Given the description of an element on the screen output the (x, y) to click on. 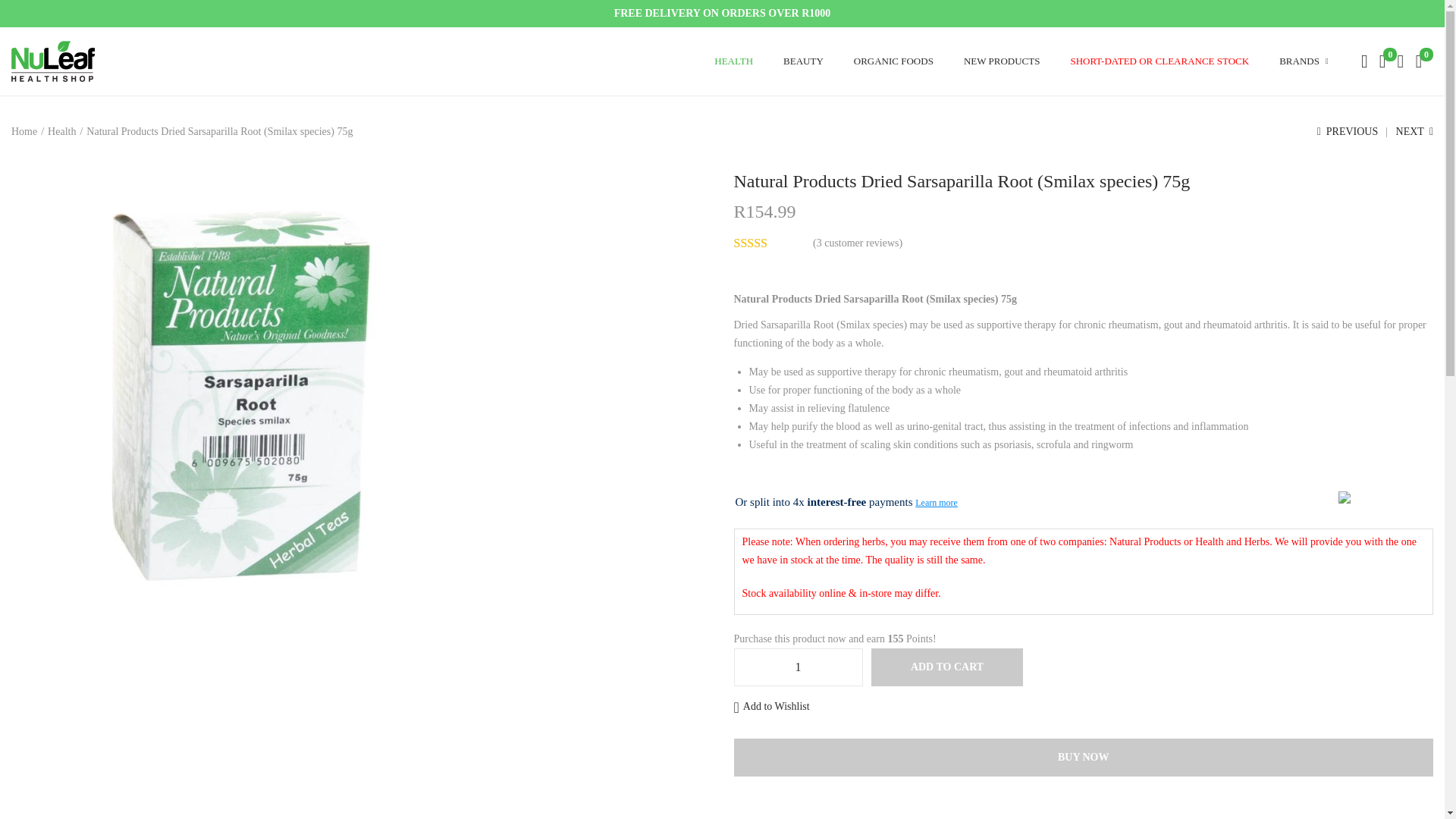
ORGANIC FOODS (893, 61)
NEW PRODUCTS (1002, 61)
Qty (797, 667)
SHORT-DATED OR CLEARANCE STOCK (1159, 61)
1 (797, 667)
